Given the description of an element on the screen output the (x, y) to click on. 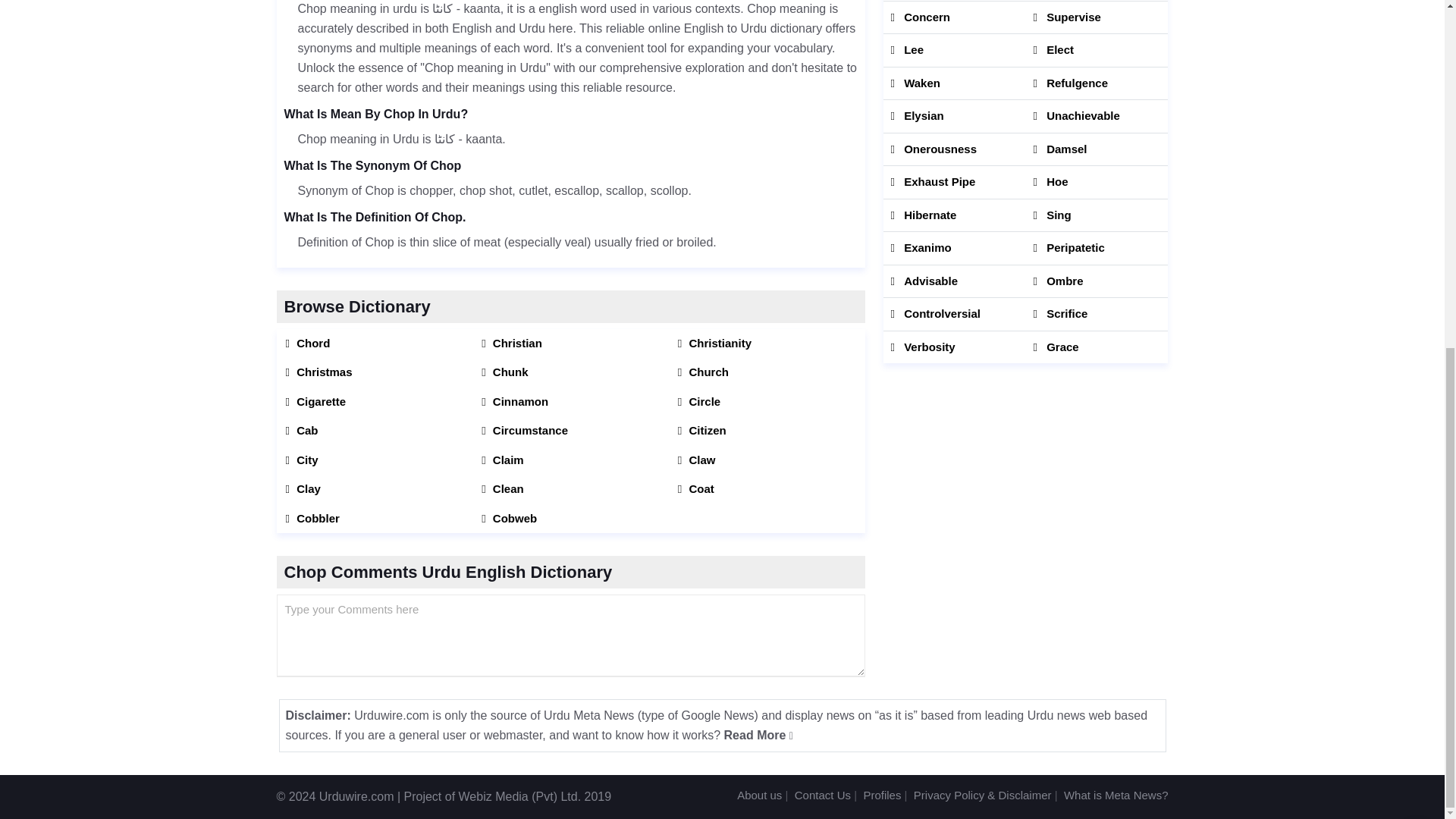
Christmas (374, 372)
Christian (570, 342)
Chord (374, 342)
Church (767, 372)
Circle (767, 401)
Cinnamon (570, 401)
Chunk (570, 372)
Christianity (767, 342)
Cigarette (374, 401)
